Given the description of an element on the screen output the (x, y) to click on. 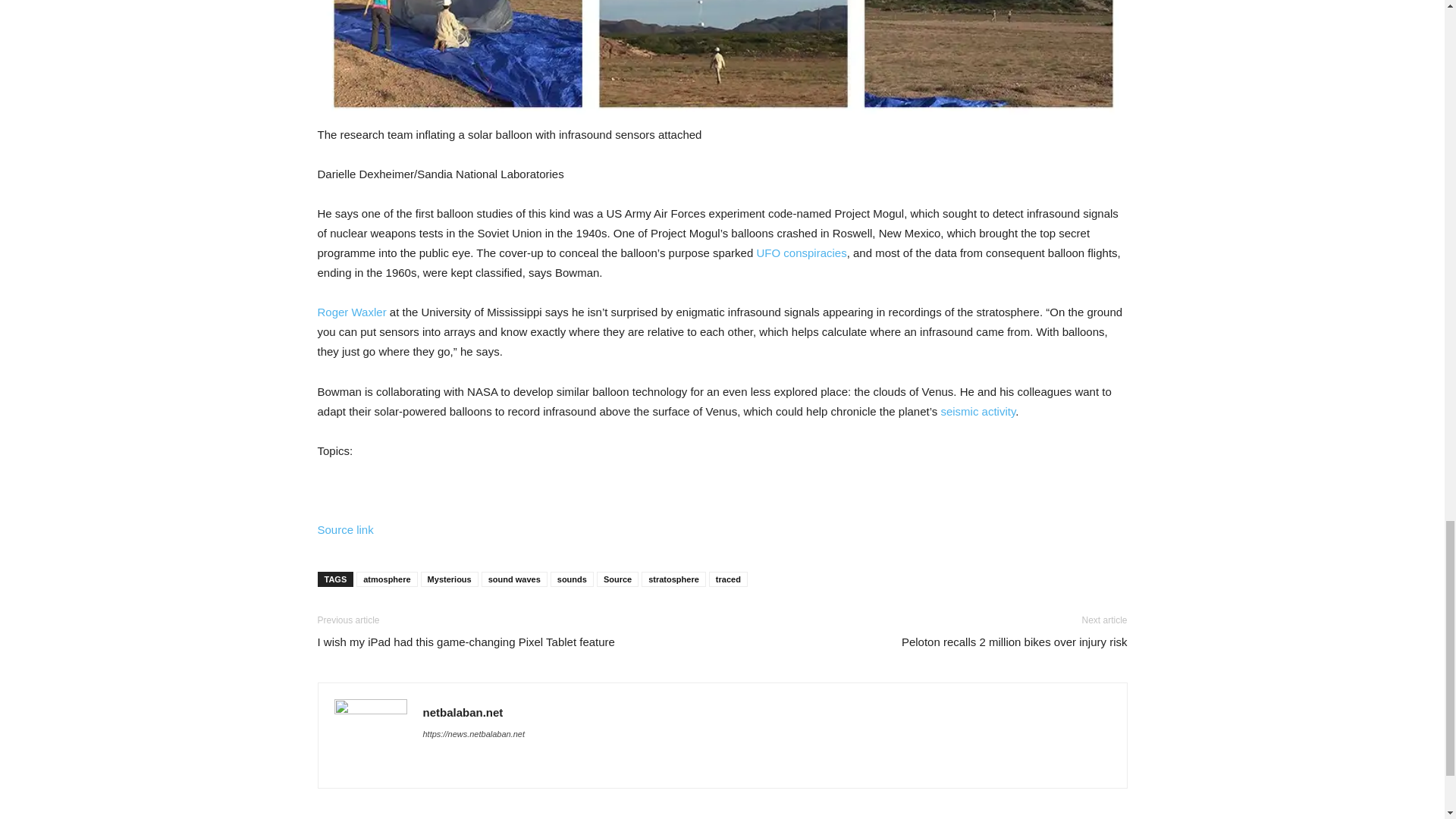
Roger Waxler (351, 311)
sound waves (514, 579)
sounds (572, 579)
seismic activity (977, 410)
atmosphere (386, 579)
UFO conspiracies (800, 252)
Mysterious (449, 579)
Source (617, 579)
Source link (344, 529)
